Given the description of an element on the screen output the (x, y) to click on. 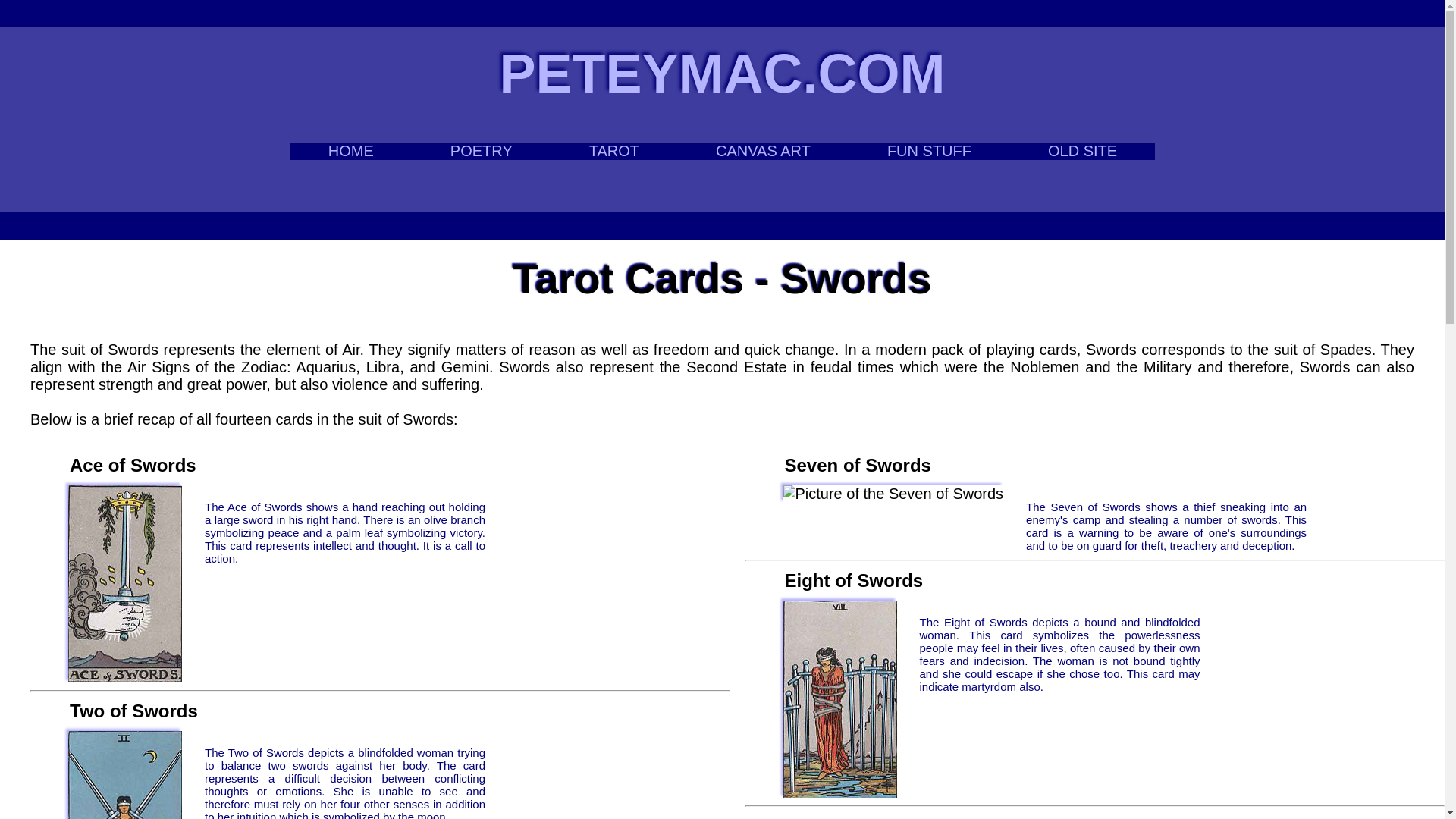
TAROT (613, 150)
POETRY (481, 150)
CANVAS ART (762, 150)
FUN STUFF (928, 150)
OLD SITE (1081, 150)
HOME (350, 150)
